Given the description of an element on the screen output the (x, y) to click on. 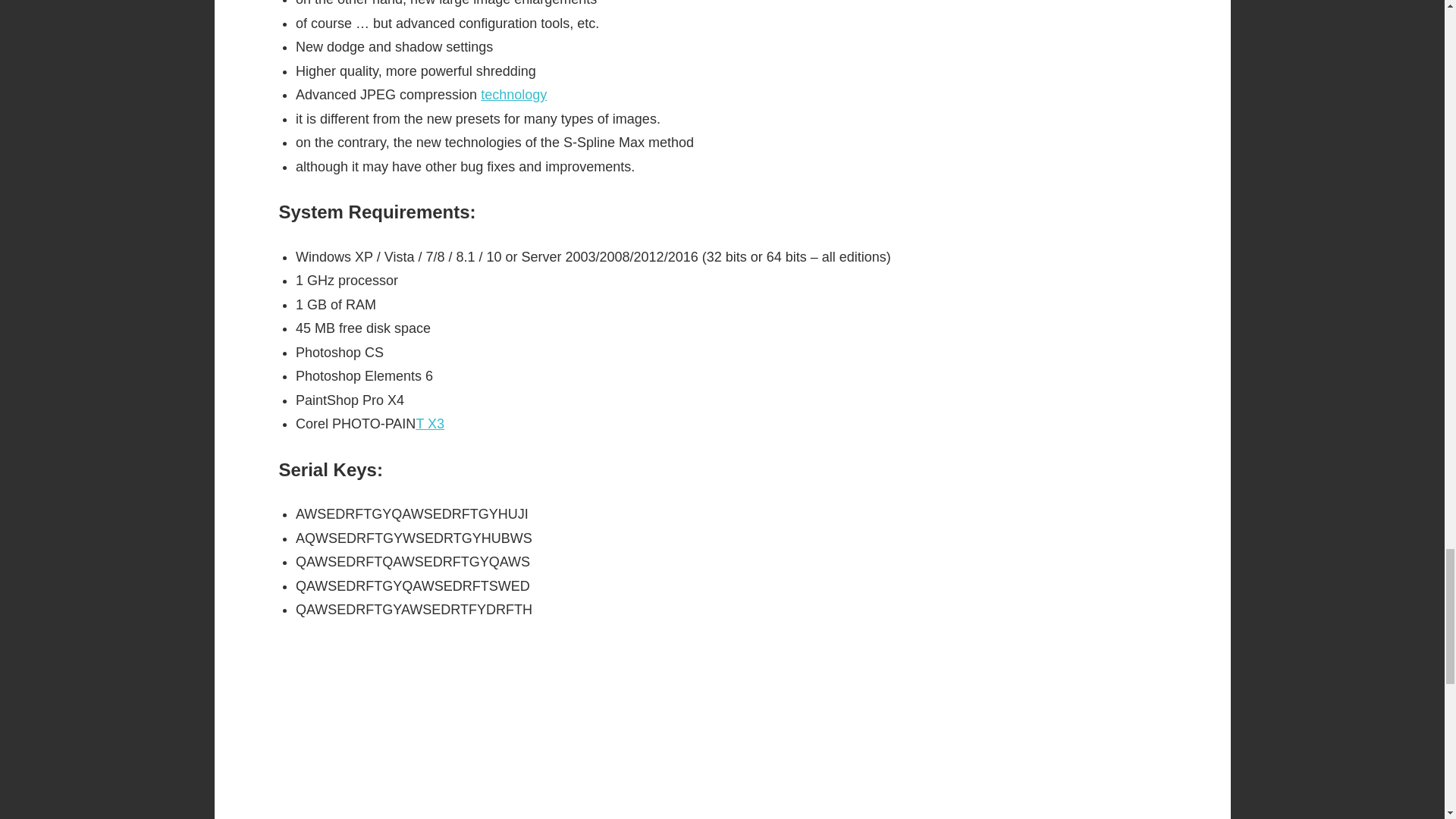
technology (513, 94)
T X3 (429, 423)
